Given the description of an element on the screen output the (x, y) to click on. 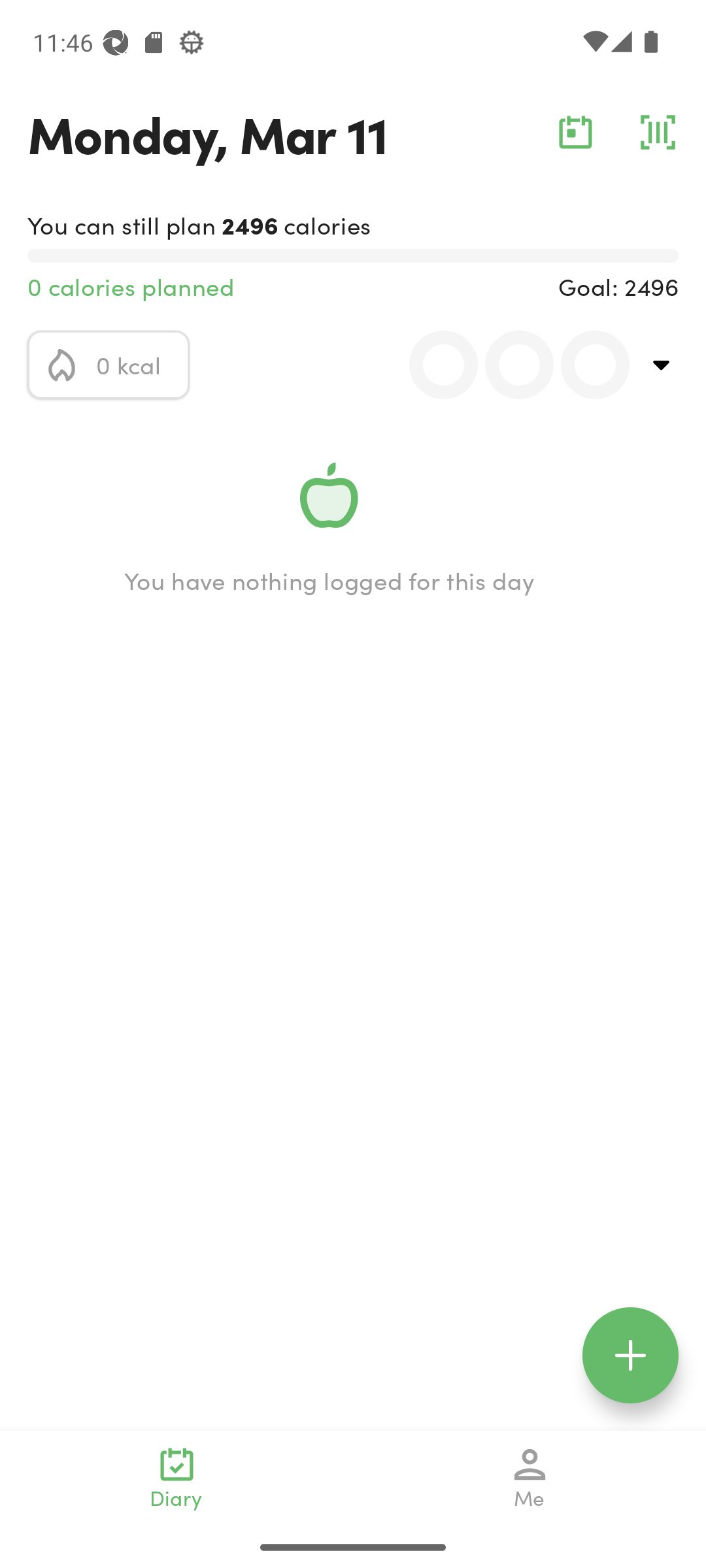
calendar_action (575, 132)
barcode_action (658, 132)
calorie_icon 0 kcal (108, 365)
0.0 0.0 0.0 (508, 365)
top_right_action (661, 365)
floating_action_icon (630, 1355)
Me navigation_icon (529, 1478)
